Given the description of an element on the screen output the (x, y) to click on. 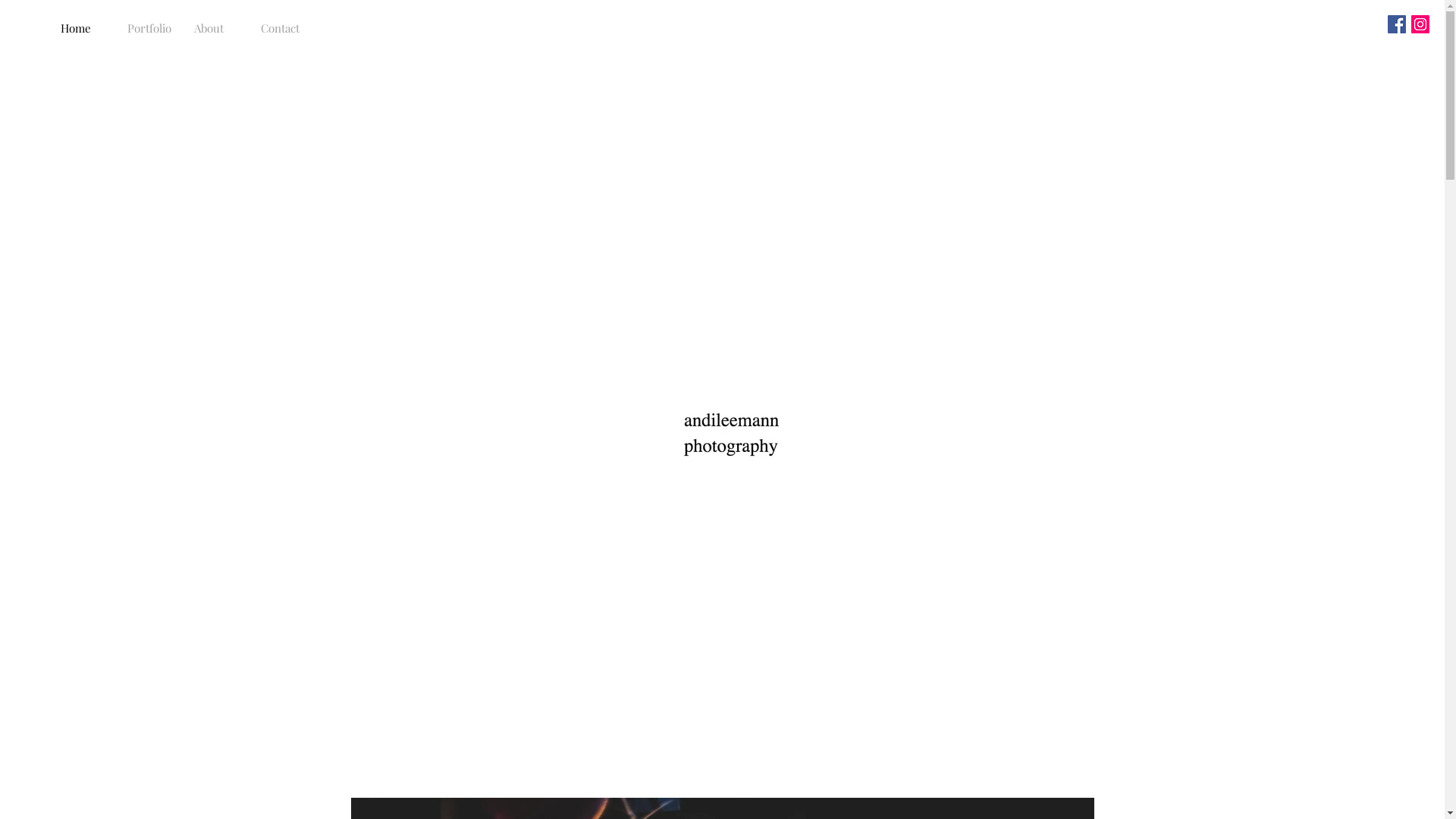
Portfolio Element type: text (149, 28)
Contact Element type: text (282, 28)
About Element type: text (215, 28)
Home Element type: text (82, 28)
